Given the description of an element on the screen output the (x, y) to click on. 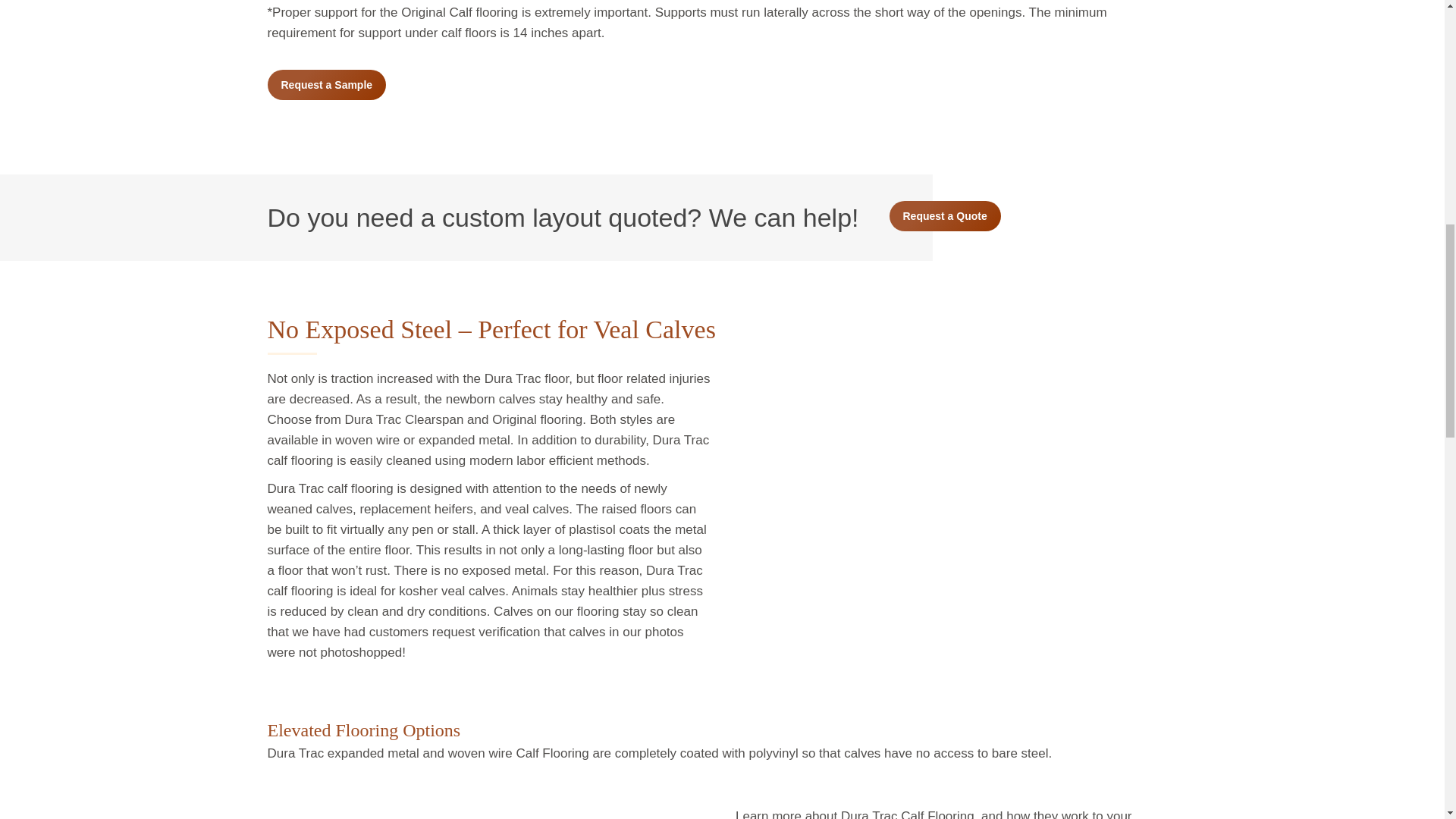
CalfExpSample-750 (370, 812)
Dura Trac Calf Flooring (955, 508)
